Given the description of an element on the screen output the (x, y) to click on. 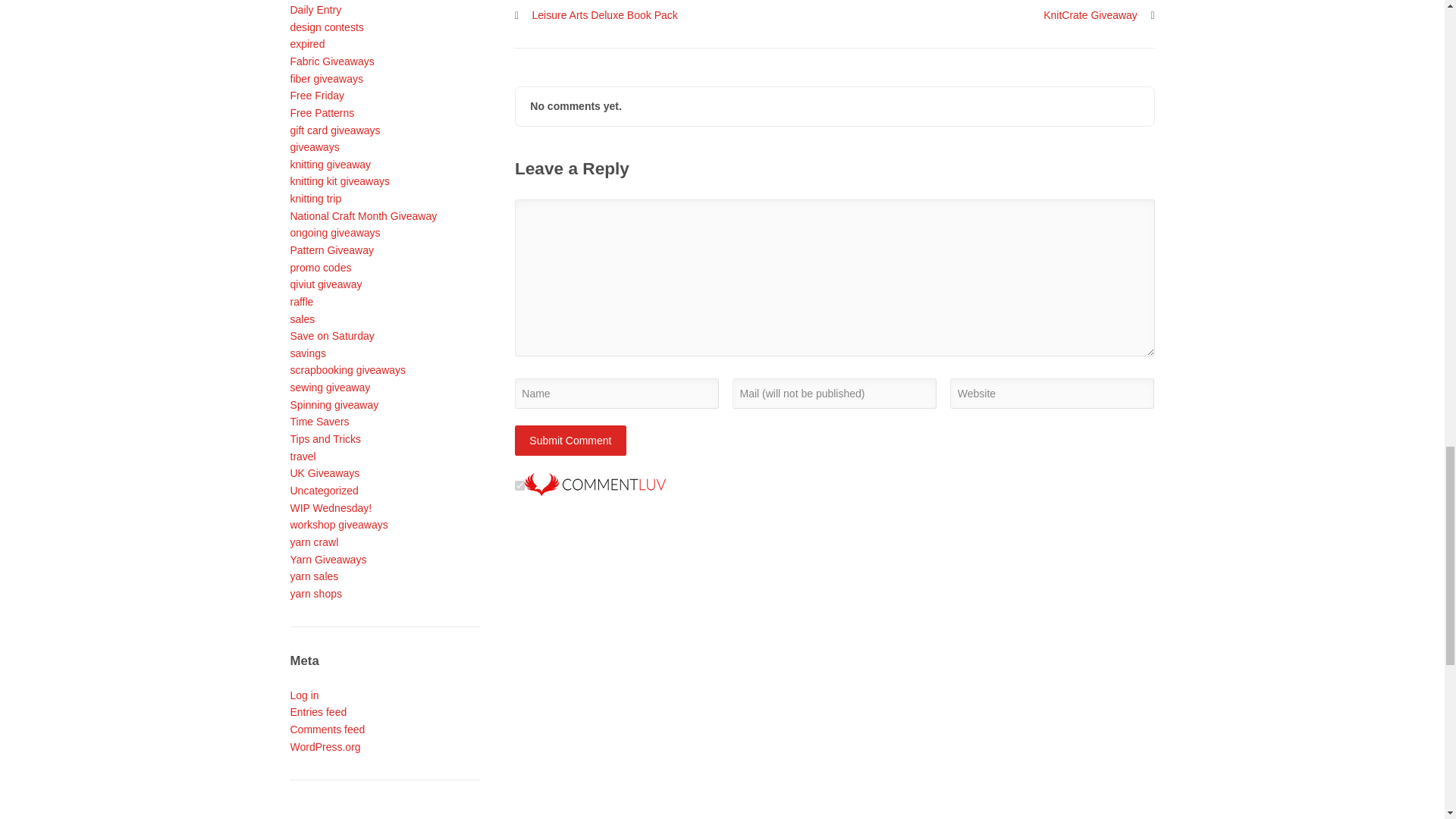
Leisure Arts Deluxe Book Pack (596, 15)
Submit Comment (570, 440)
Submit Comment (570, 440)
on (519, 485)
Website (1052, 392)
Name (617, 392)
KnitCrate Giveaway (1098, 15)
